Given the description of an element on the screen output the (x, y) to click on. 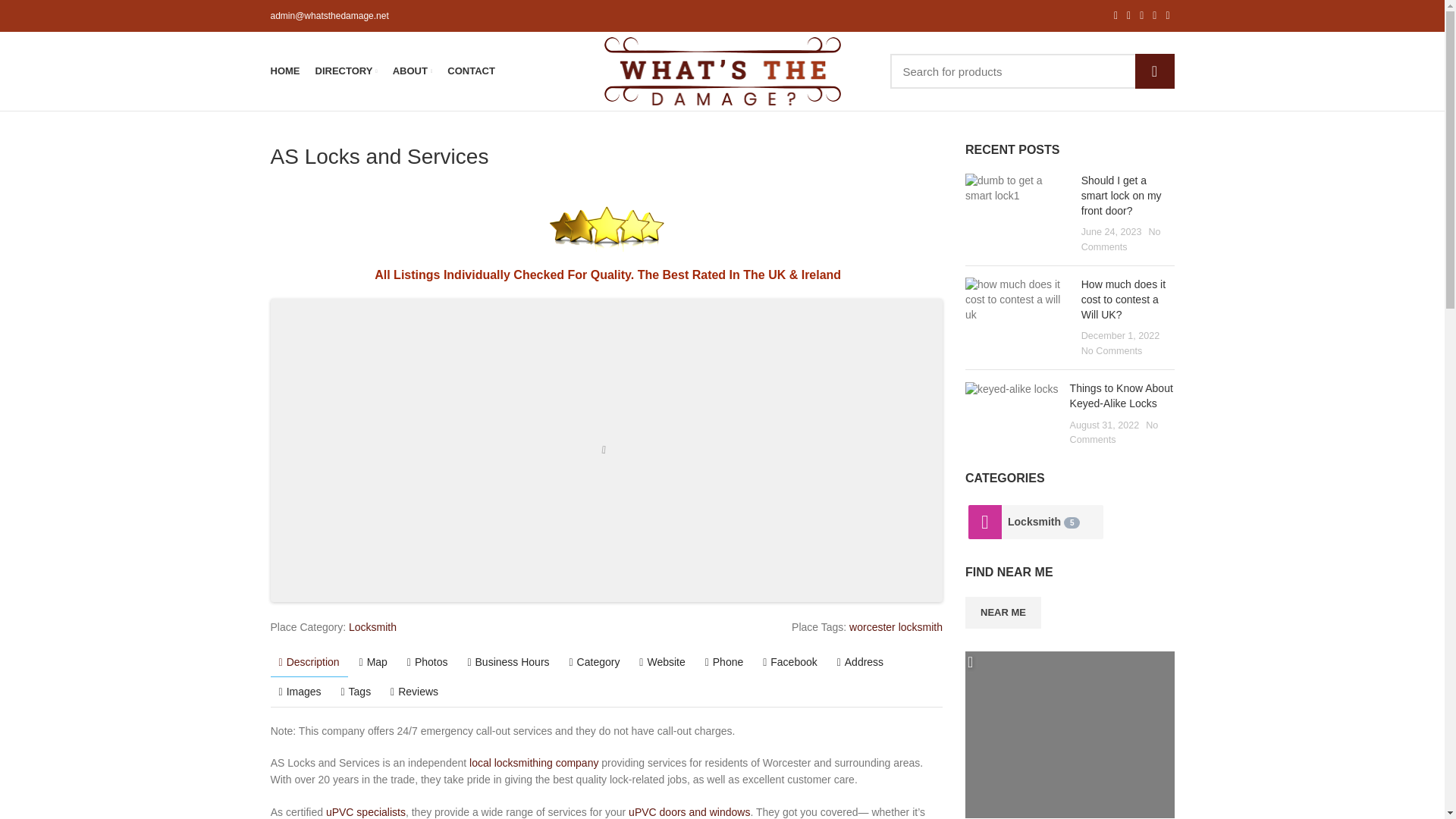
HOME (284, 71)
Locksmith (984, 521)
ABOUT (413, 71)
DIRECTORY (346, 71)
how much does it cost to contest a will uk (1017, 299)
Business Hours (507, 661)
Locksmith (1052, 521)
Address (859, 661)
Phone (724, 661)
Search for products (1031, 71)
